Given the description of an element on the screen output the (x, y) to click on. 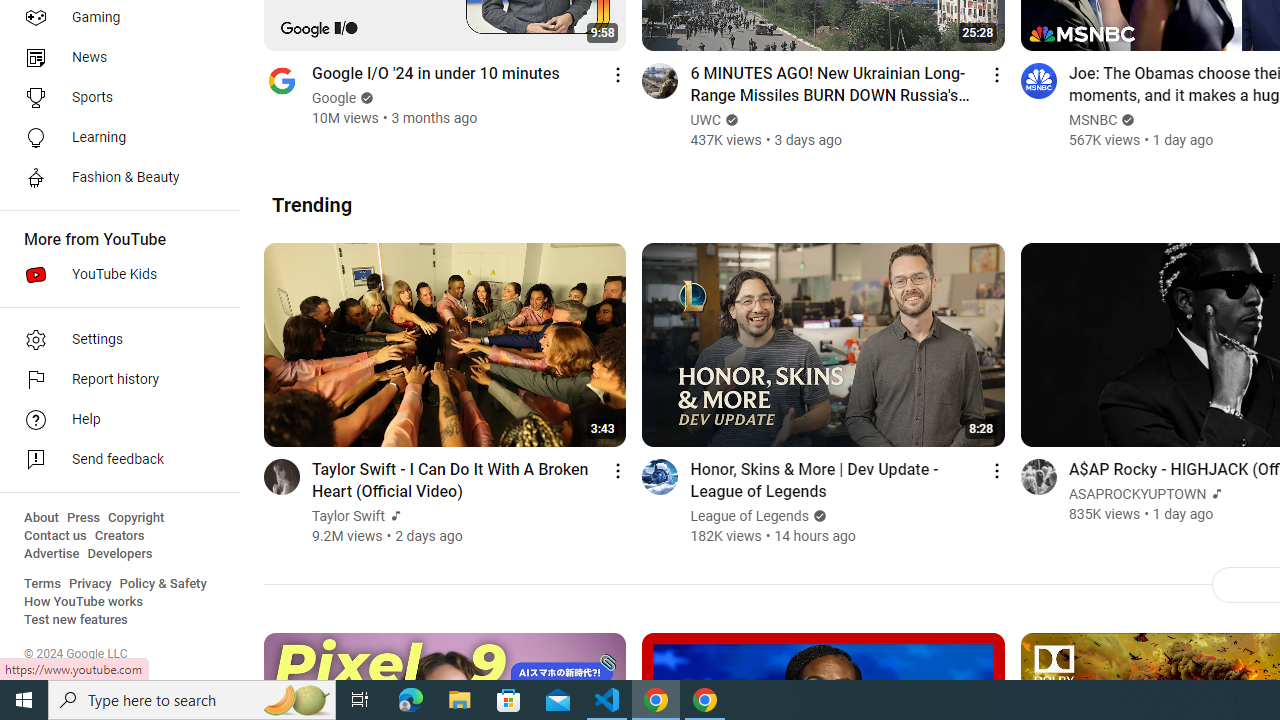
Settings (113, 339)
News (113, 57)
Go to channel (1038, 476)
Google (335, 97)
Trending (312, 204)
UWC (706, 120)
MSNBC (1092, 120)
Action menu (996, 470)
Developers (120, 554)
Copyright (136, 518)
Creators (118, 536)
Official Artist Channel (1214, 493)
Sports (113, 97)
